Given the description of an element on the screen output the (x, y) to click on. 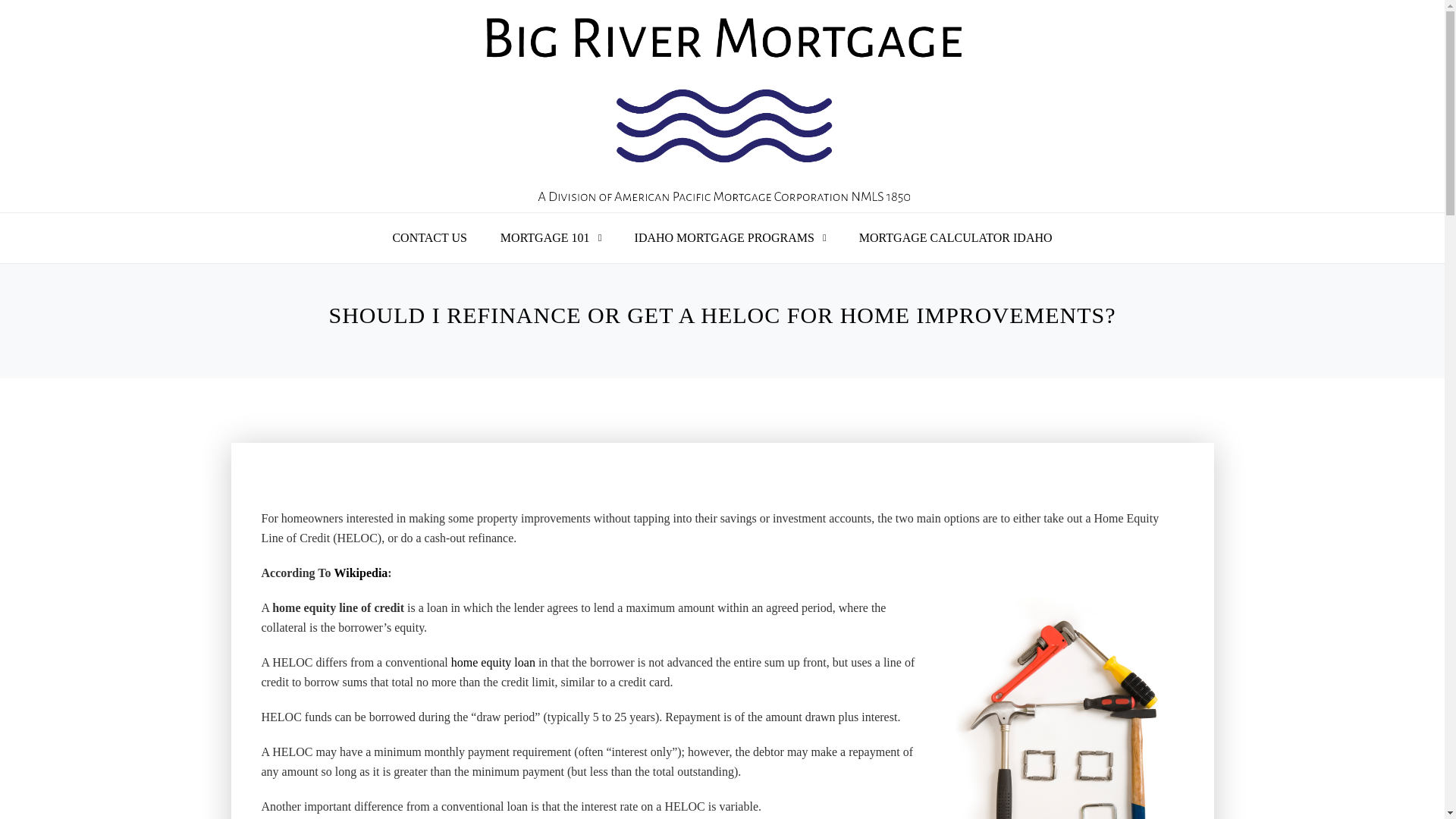
CONTACT US (429, 237)
MORTGAGE 101 (544, 237)
Home equity  loan (493, 662)
